Given the description of an element on the screen output the (x, y) to click on. 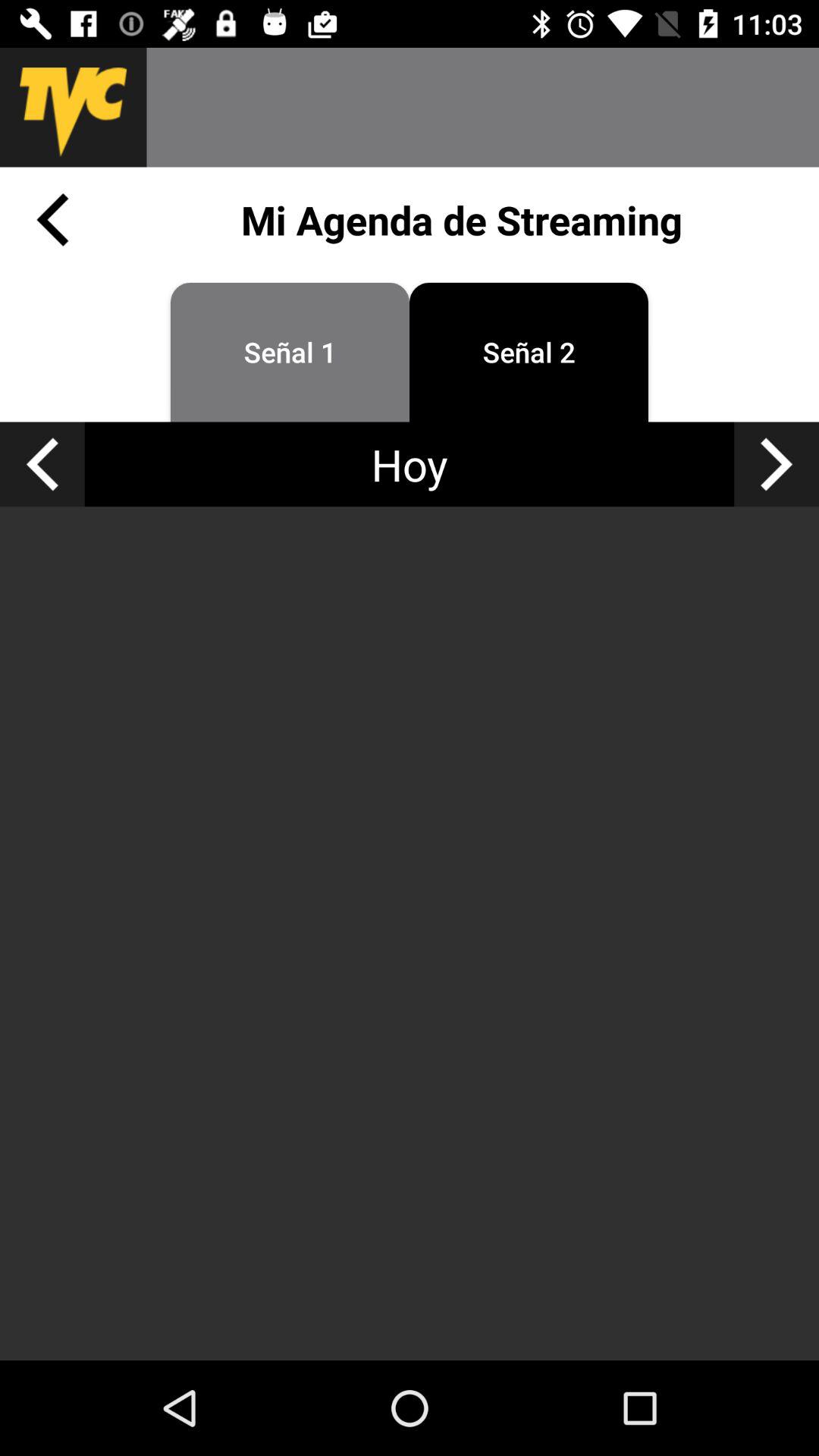
launch the app above mi agenda de item (482, 107)
